Given the description of an element on the screen output the (x, y) to click on. 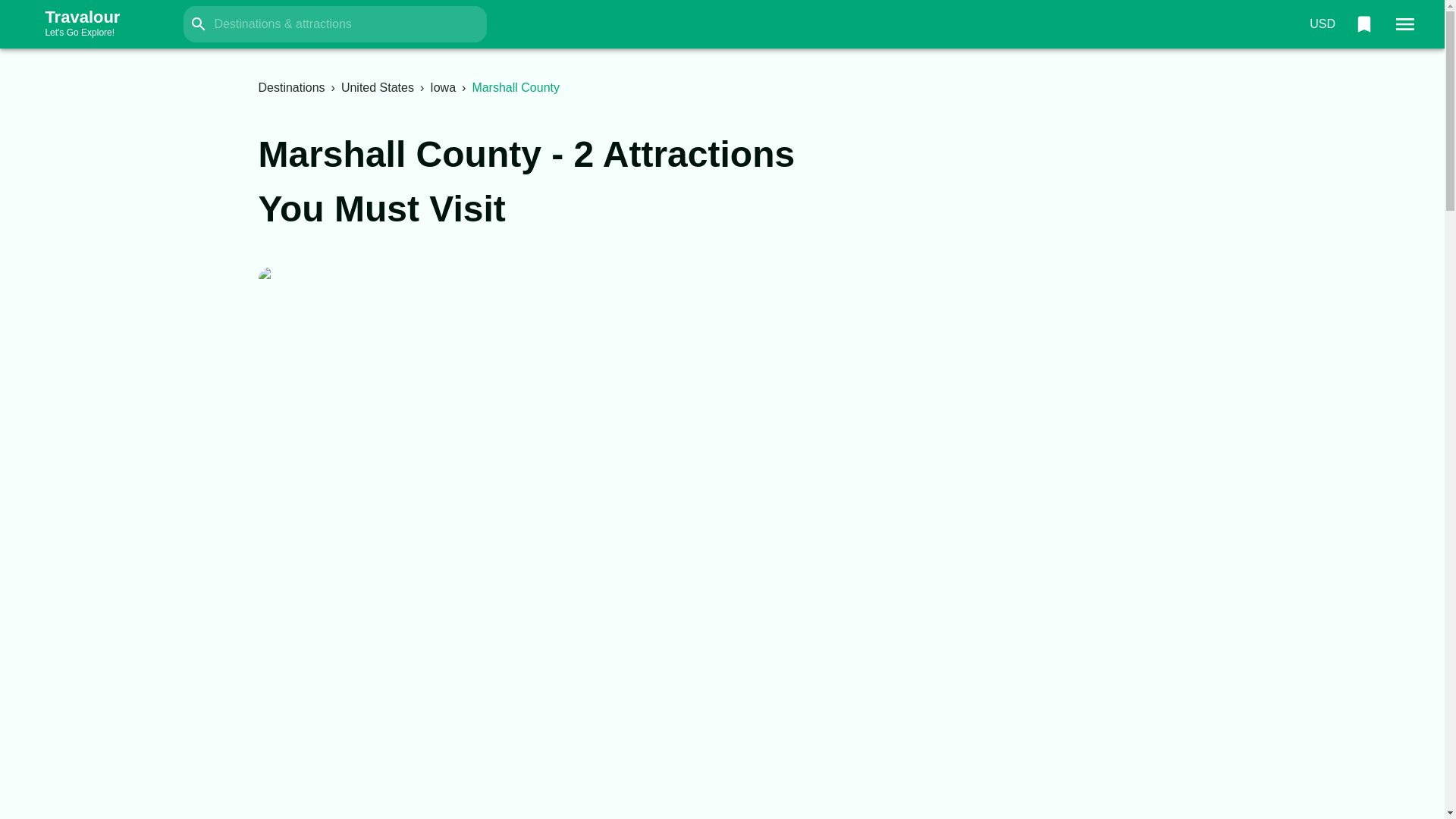
United States (376, 87)
Iowa (442, 87)
Destinations (97, 23)
USD (290, 87)
0 (1321, 23)
